Given the description of an element on the screen output the (x, y) to click on. 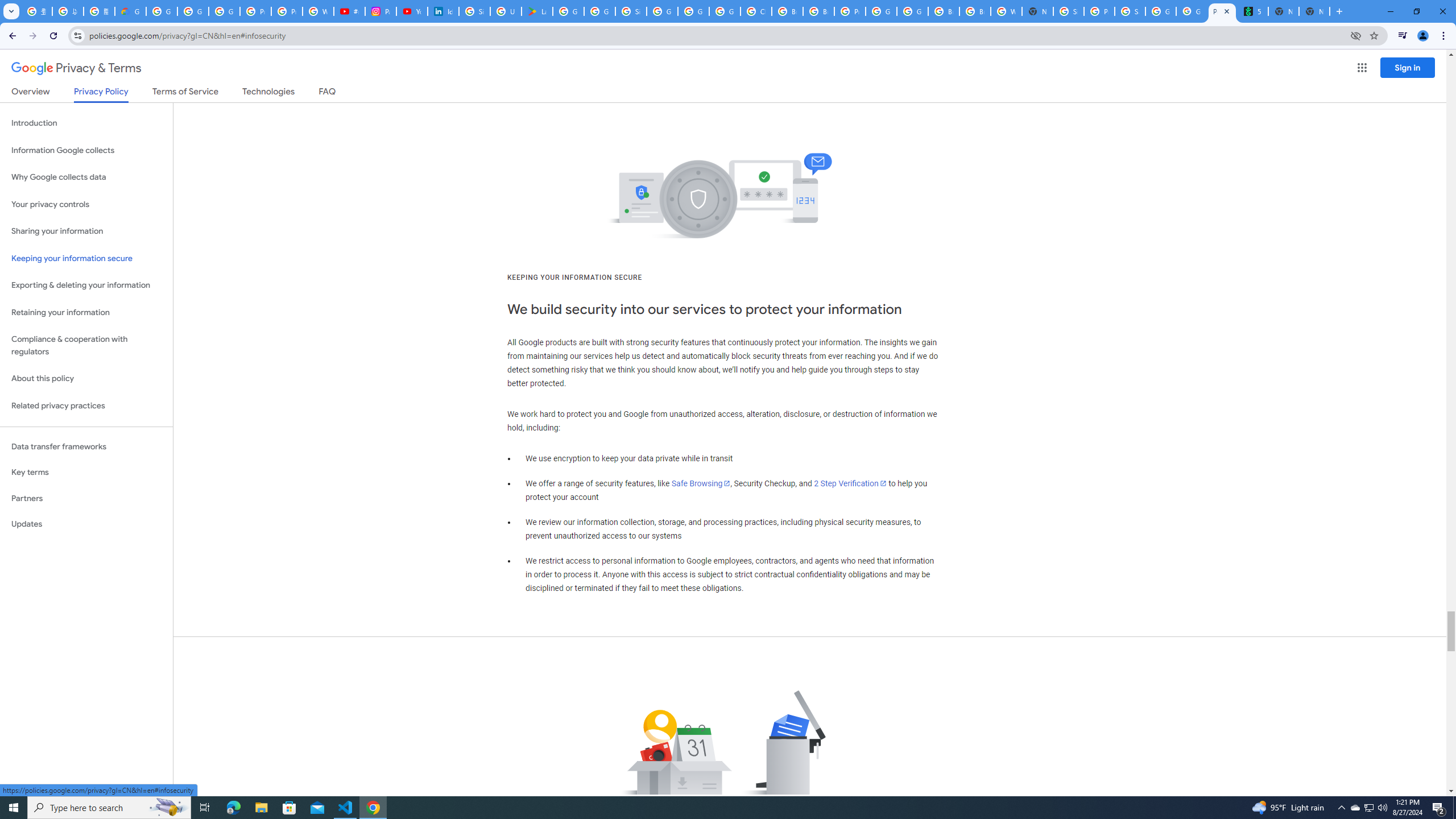
Keeping your information secure (86, 258)
